Given the description of an element on the screen output the (x, y) to click on. 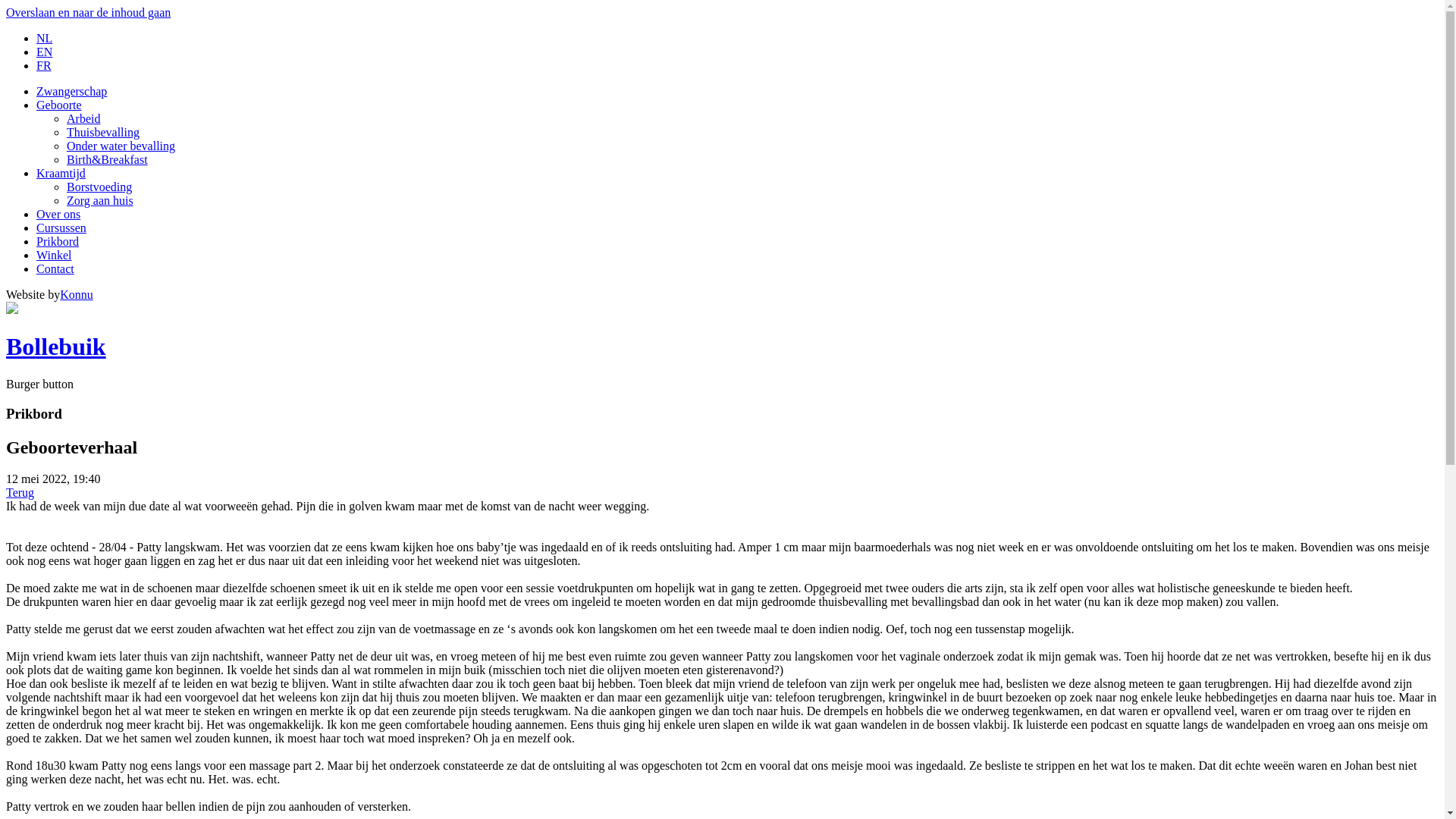
Contact Element type: text (55, 268)
Over ons Element type: text (58, 213)
Geboorte Element type: text (58, 104)
Zwangerschap Element type: text (71, 90)
Terug Element type: text (20, 492)
Prikbord Element type: text (57, 241)
Winkel Element type: text (53, 254)
EN Element type: text (44, 51)
Zorg aan huis Element type: text (99, 200)
Overslaan en naar de inhoud gaan Element type: text (88, 12)
Bollebuik Element type: text (56, 346)
Borstvoeding Element type: text (98, 186)
Kraamtijd Element type: text (60, 172)
Test Element type: hover (12, 309)
NL Element type: text (44, 37)
FR Element type: text (43, 65)
Konnu Element type: text (76, 294)
Birth&Breakfast Element type: text (106, 159)
Onder water bevalling Element type: text (120, 145)
Thuisbevalling Element type: text (102, 131)
Cursussen Element type: text (61, 227)
Arbeid Element type: text (83, 118)
